Given the description of an element on the screen output the (x, y) to click on. 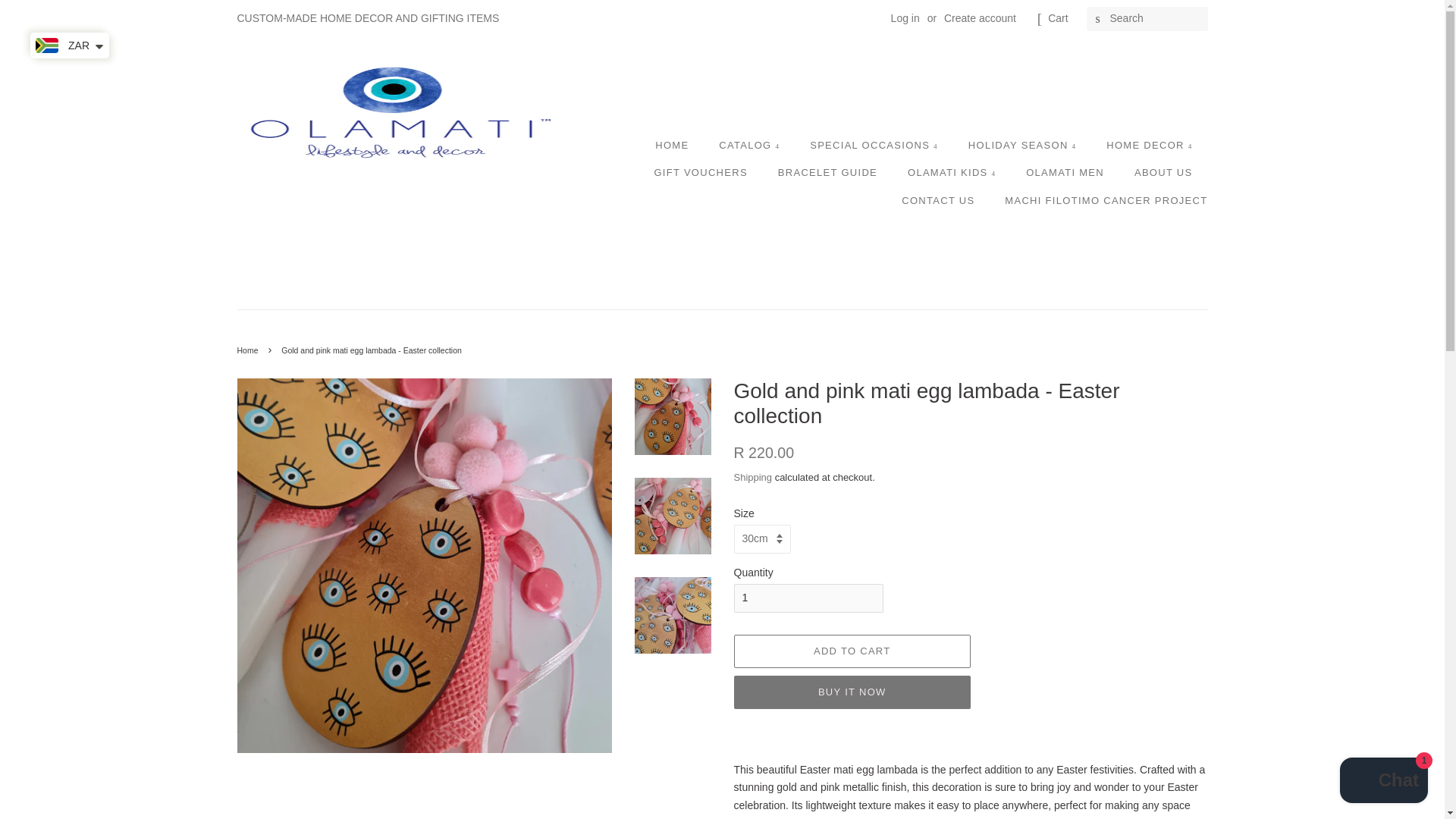
CUSTOM-MADE HOME DECOR AND GIFTING ITEMS (367, 18)
1 (808, 597)
Back to the frontpage (248, 349)
Cart (1057, 18)
Log in (905, 18)
Create account (979, 18)
Shopify online store chat (1383, 781)
SEARCH (1097, 18)
